Given the description of an element on the screen output the (x, y) to click on. 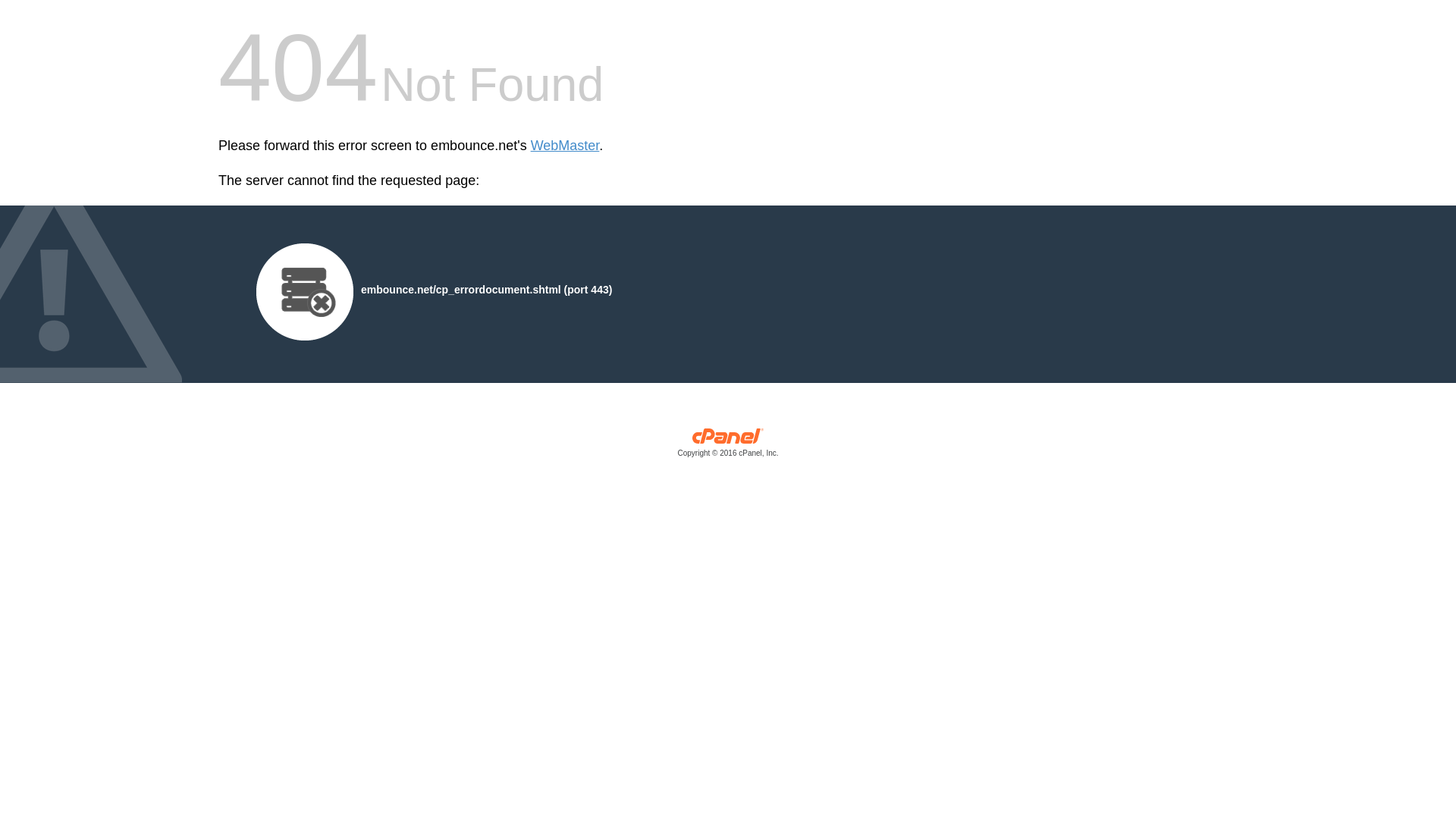
WebMaster (565, 145)
cPanel, Inc. (727, 446)
